Given the description of an element on the screen output the (x, y) to click on. 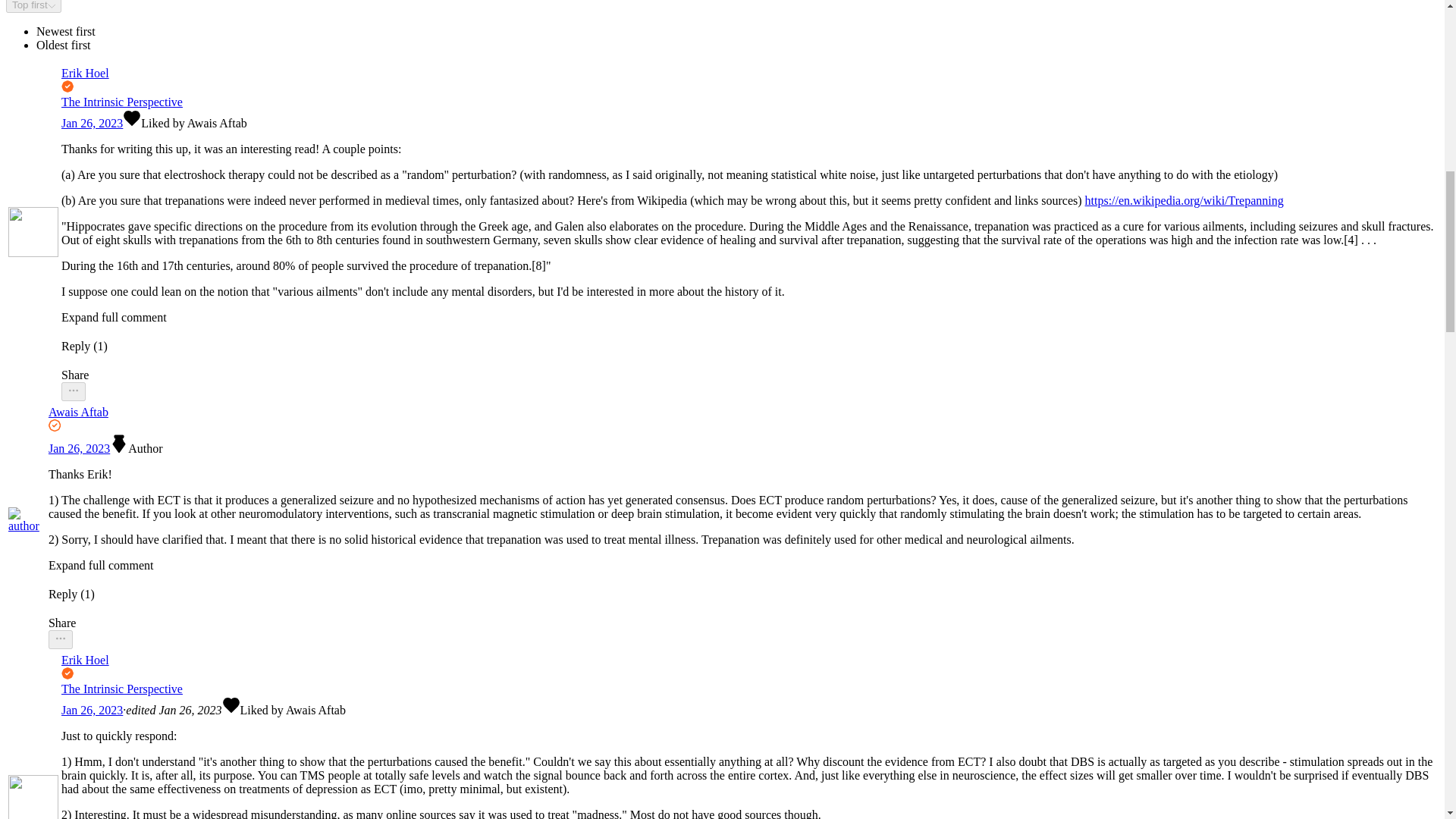
Jan 26, 2023 (91, 123)
Jan 26, 2023 (79, 448)
Oldest first (63, 44)
The Intrinsic Perspective (122, 101)
Top first (33, 6)
Newest first (66, 31)
